Given the description of an element on the screen output the (x, y) to click on. 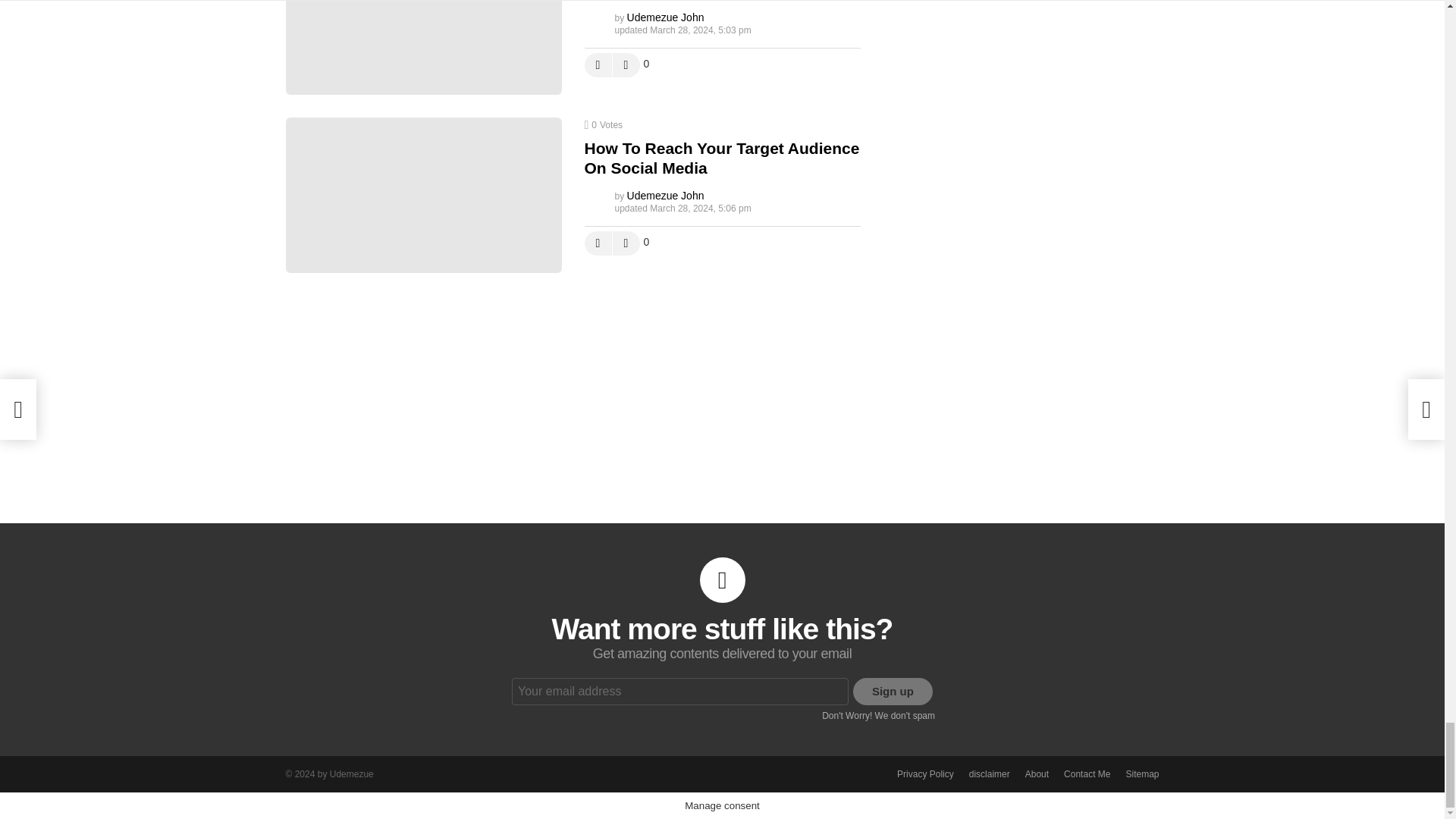
Sign up (893, 691)
